Given the description of an element on the screen output the (x, y) to click on. 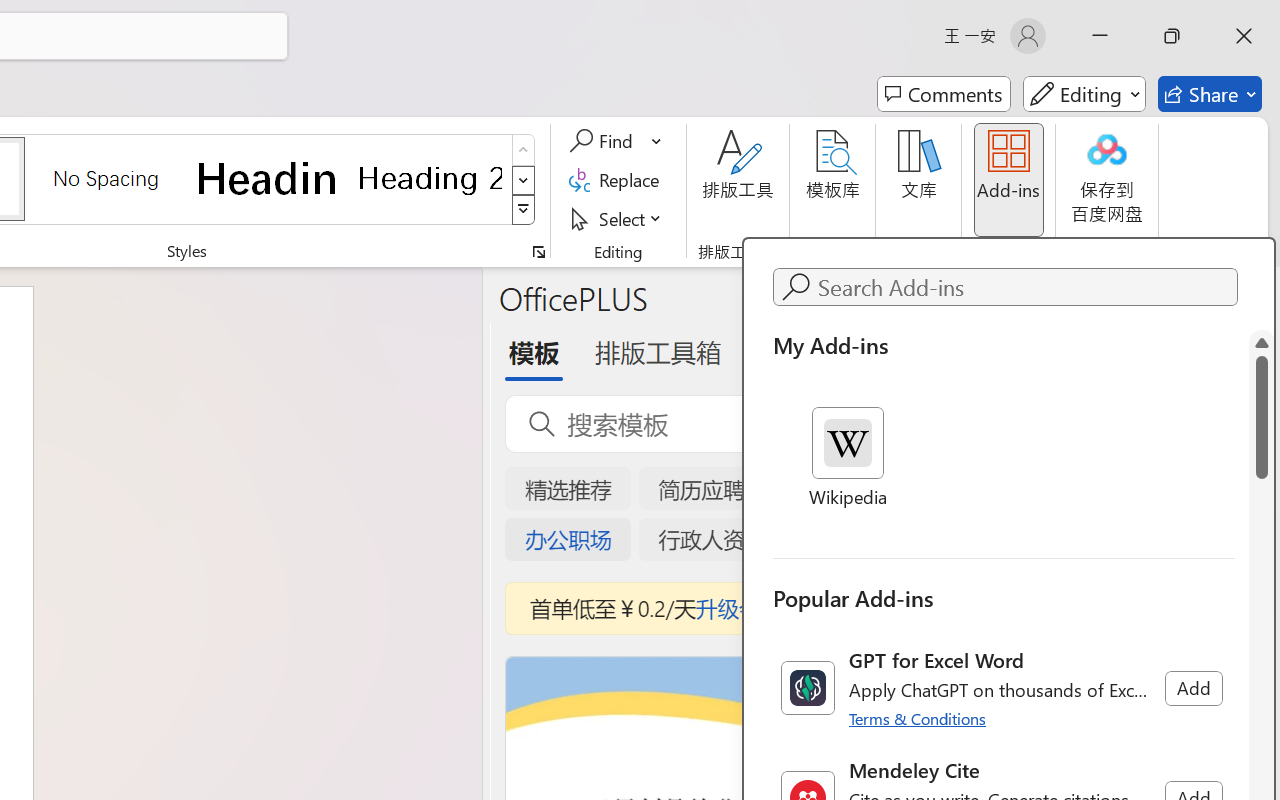
Alt Text (1260, 290)
